Given the description of an element on the screen output the (x, y) to click on. 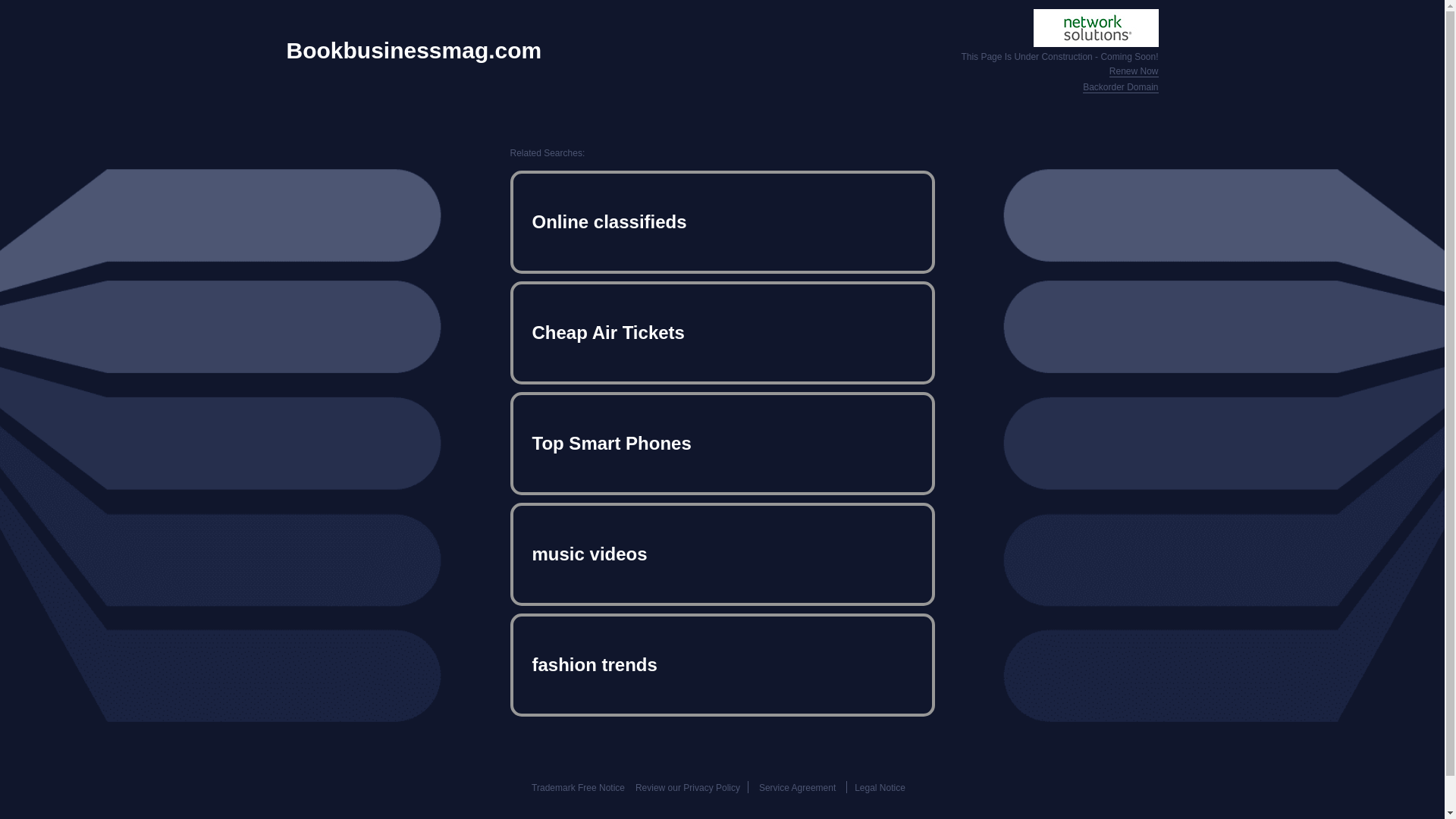
Trademark Free Notice (577, 787)
Backorder Domain (1120, 87)
fashion trends (721, 664)
Online classifieds (721, 222)
Legal Notice (879, 787)
Top Smart Phones (721, 443)
Online classifieds (721, 222)
Renew Now (1133, 71)
Service Agreement (796, 787)
Top Smart Phones (721, 443)
